Given the description of an element on the screen output the (x, y) to click on. 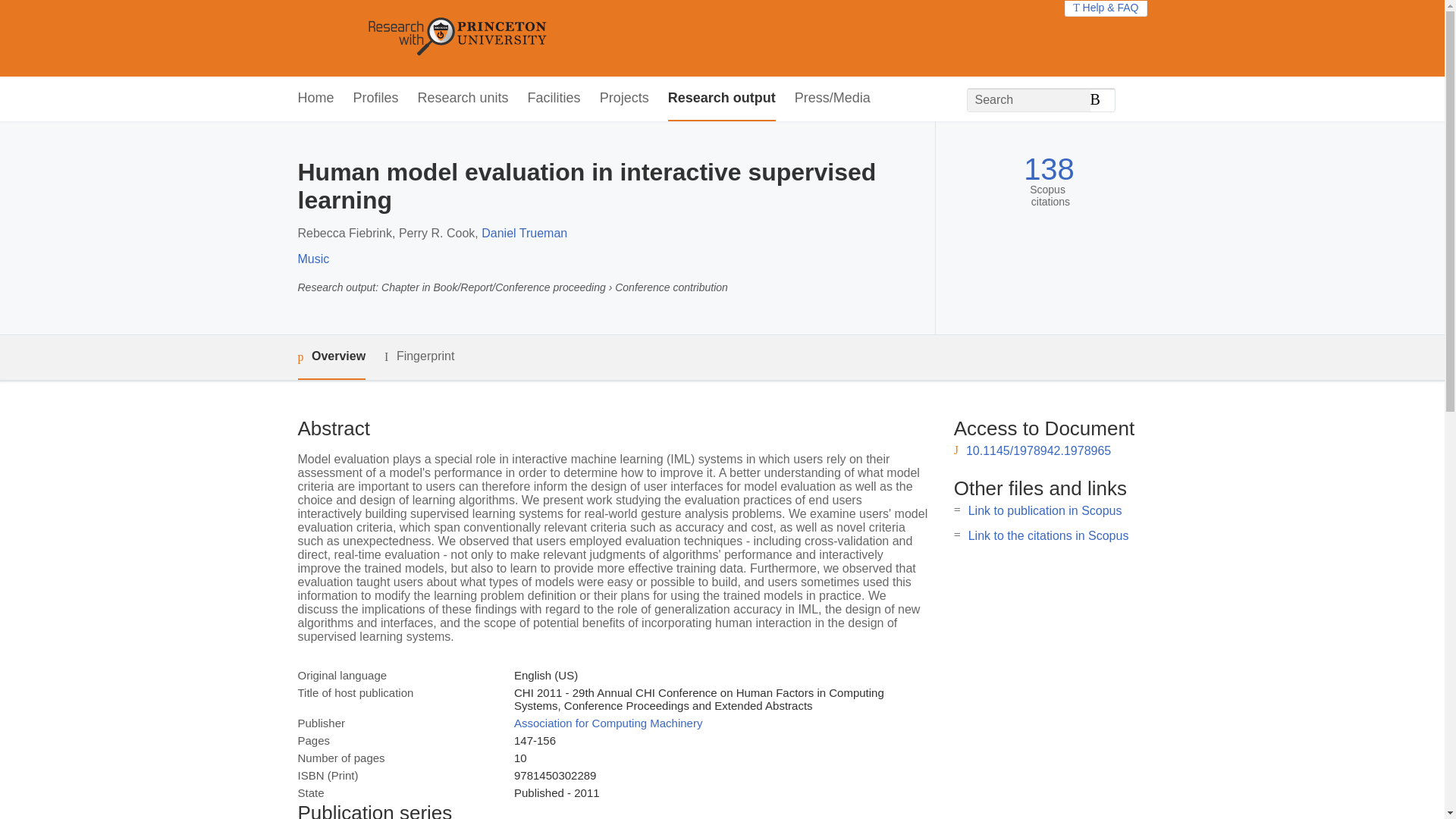
Music (313, 258)
138 (1048, 169)
Overview (331, 357)
Profiles (375, 98)
Princeton University Home (567, 38)
Link to publication in Scopus (1045, 510)
Research units (462, 98)
Fingerprint (419, 356)
Association for Computing Machinery (607, 722)
